Given the description of an element on the screen output the (x, y) to click on. 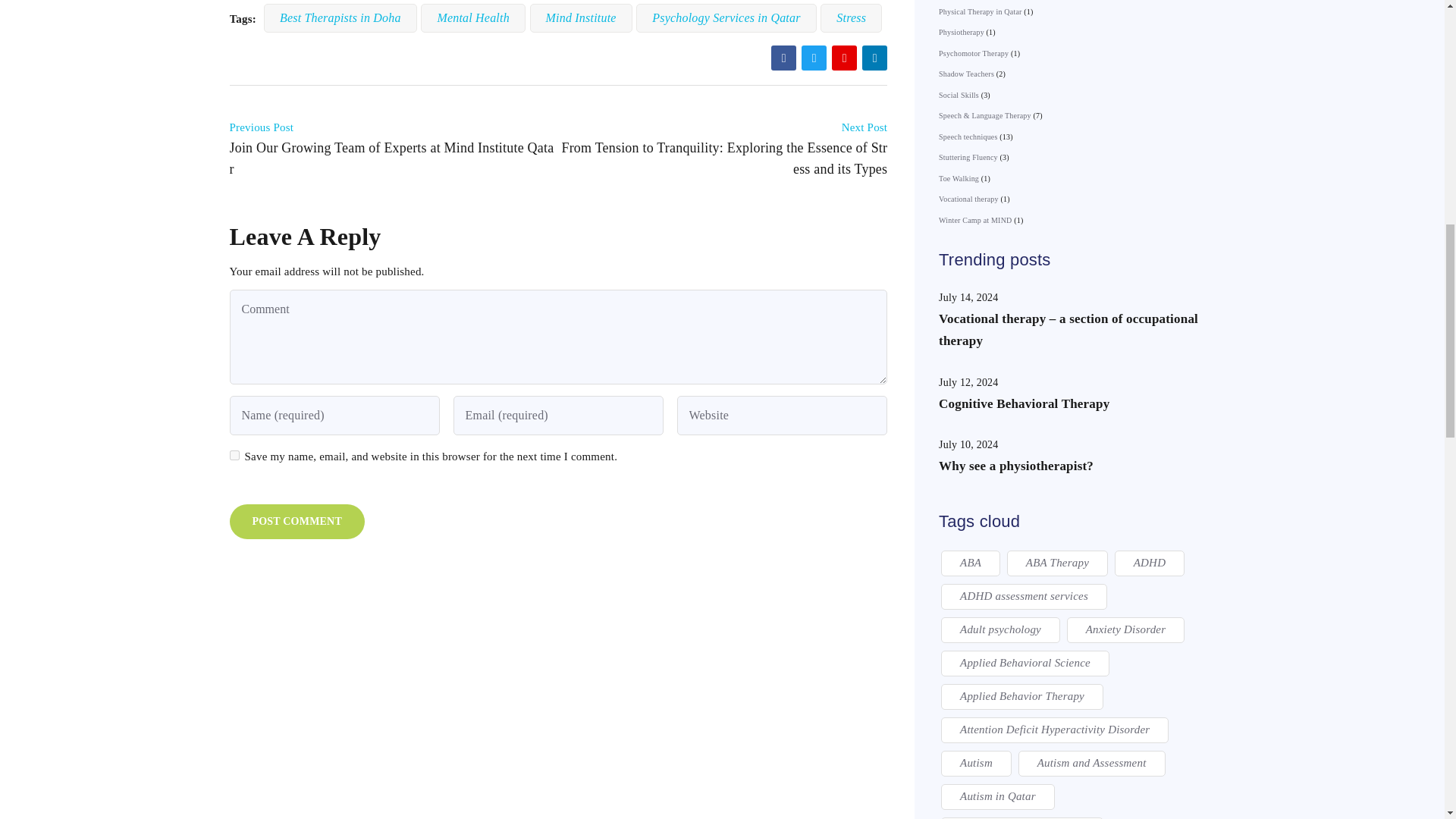
Post Comment (296, 521)
Please wait until Google reCAPTCHA is loaded. (296, 521)
yes (233, 455)
